Given the description of an element on the screen output the (x, y) to click on. 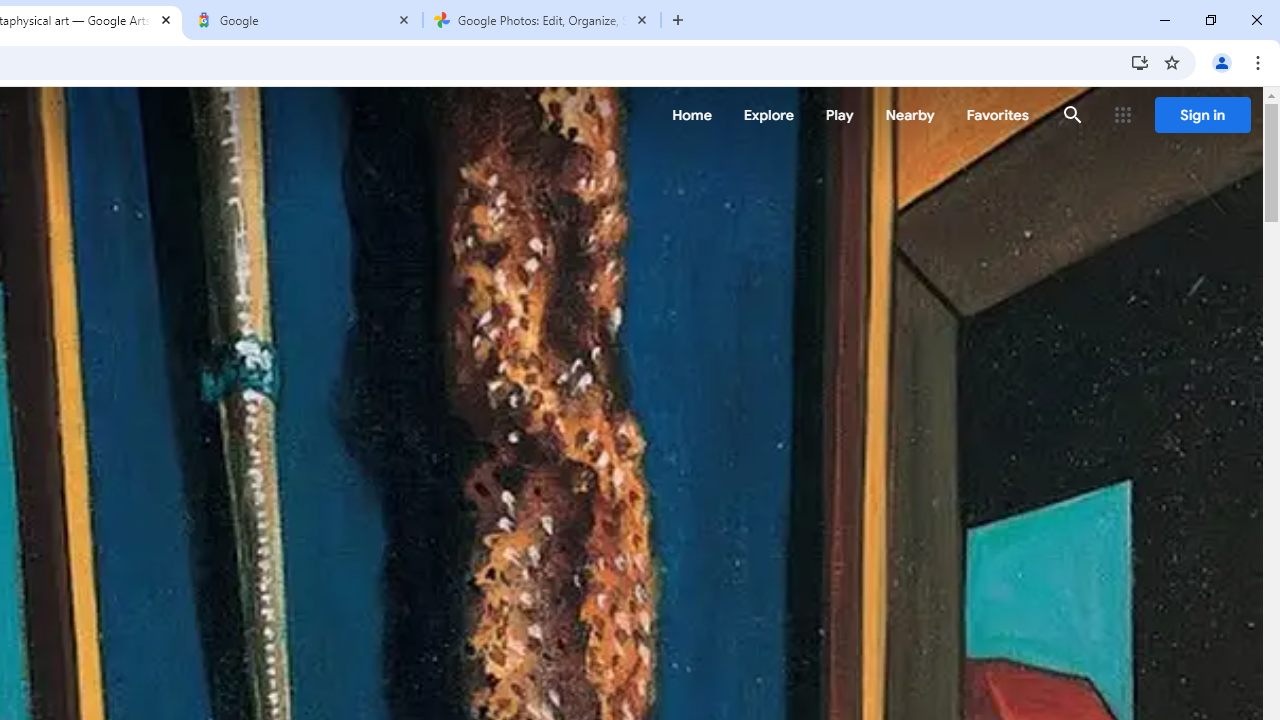
Install Google Arts & Culture (1139, 62)
